Given the description of an element on the screen output the (x, y) to click on. 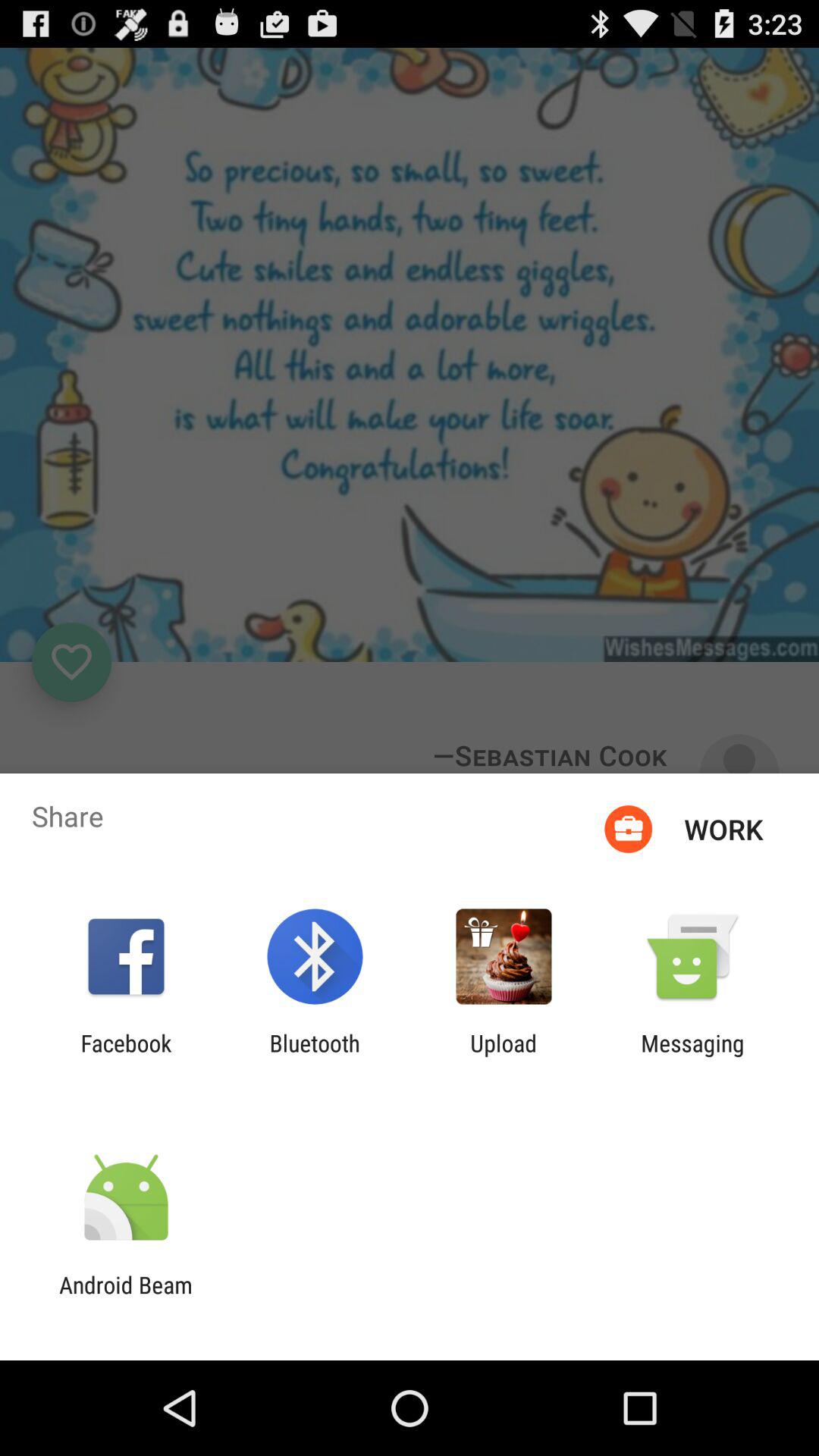
choose the app to the right of facebook item (314, 1056)
